Given the description of an element on the screen output the (x, y) to click on. 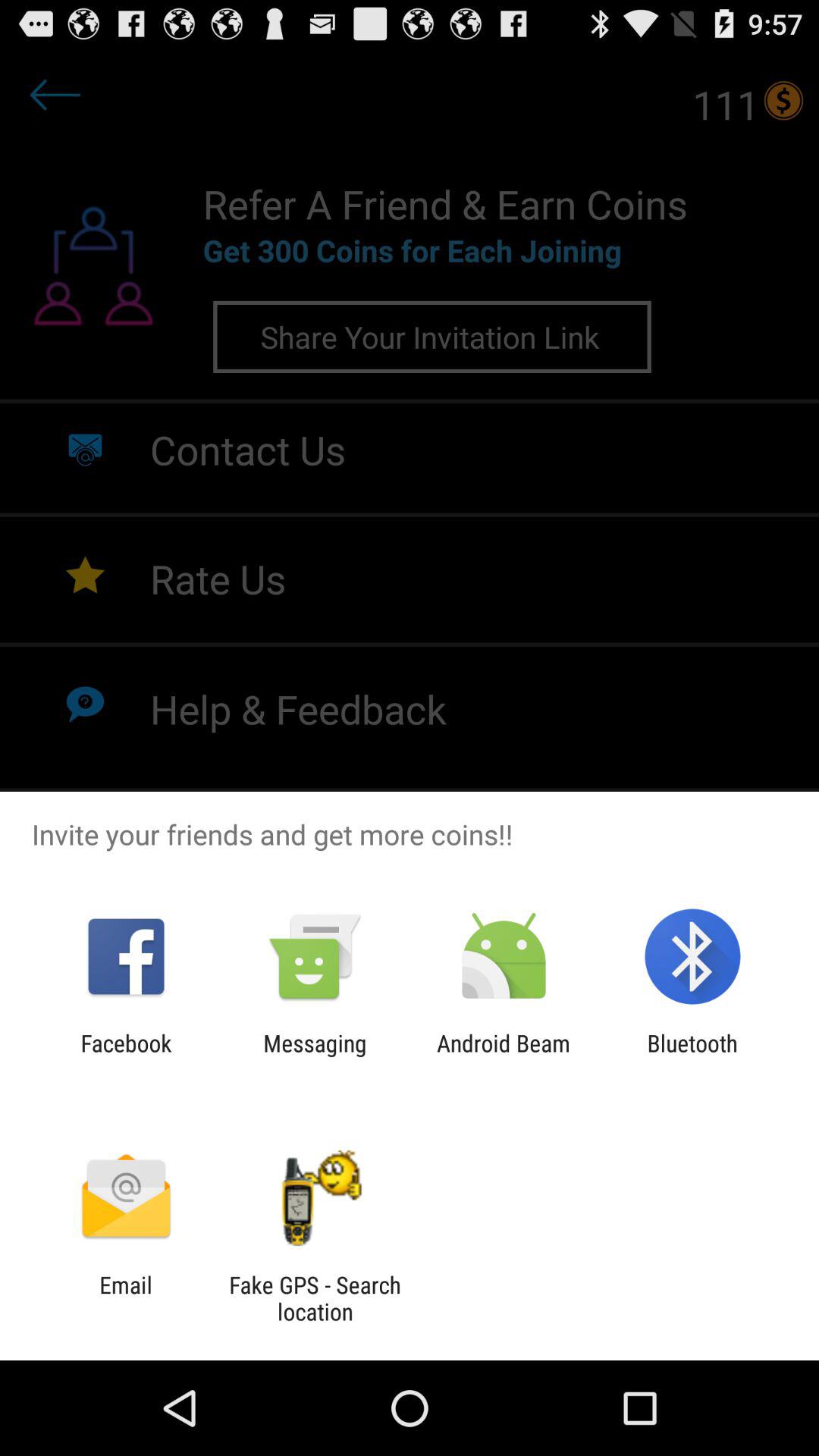
turn off android beam icon (503, 1056)
